Given the description of an element on the screen output the (x, y) to click on. 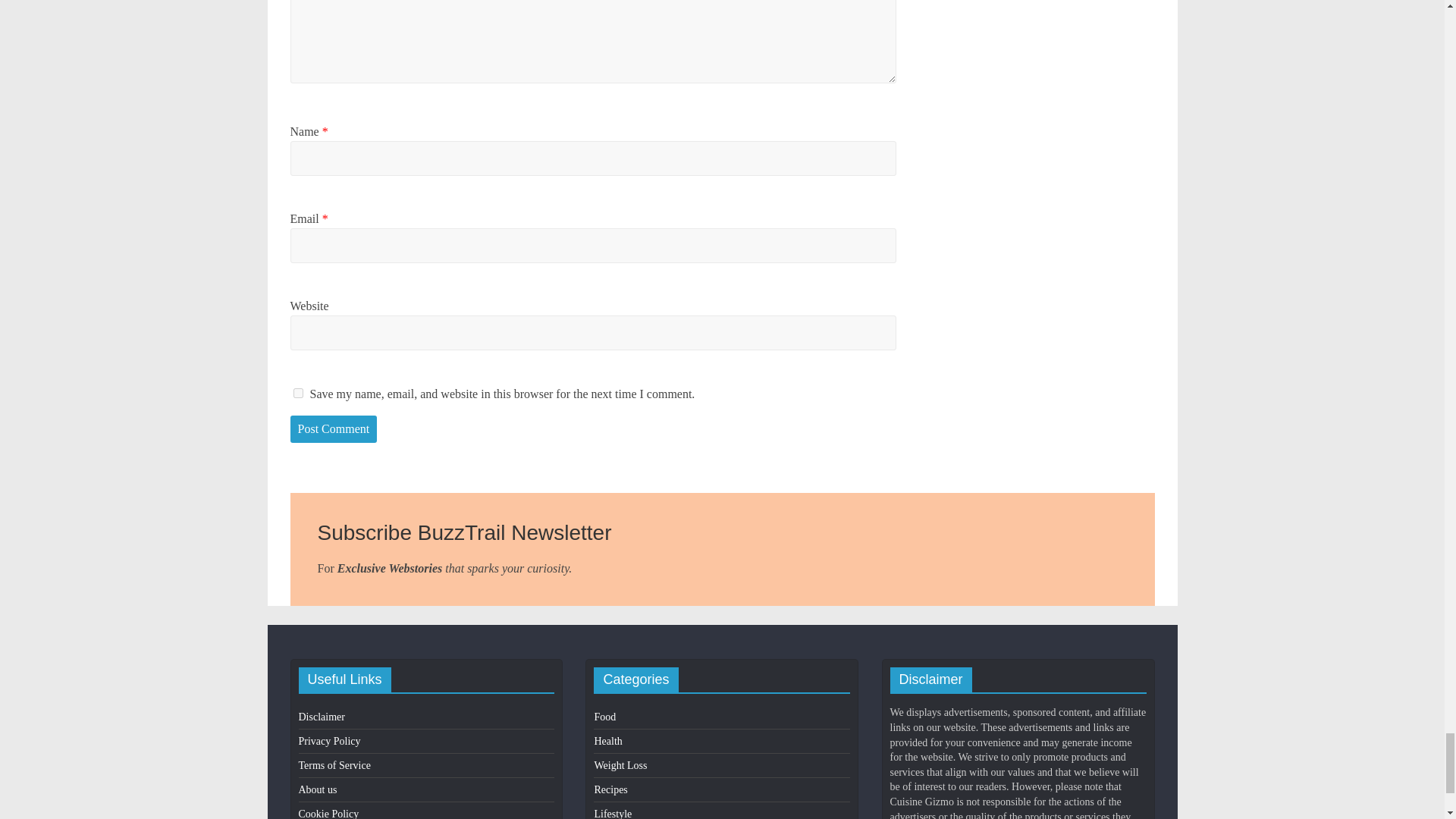
yes (297, 393)
Post Comment (333, 429)
